Given the description of an element on the screen output the (x, y) to click on. 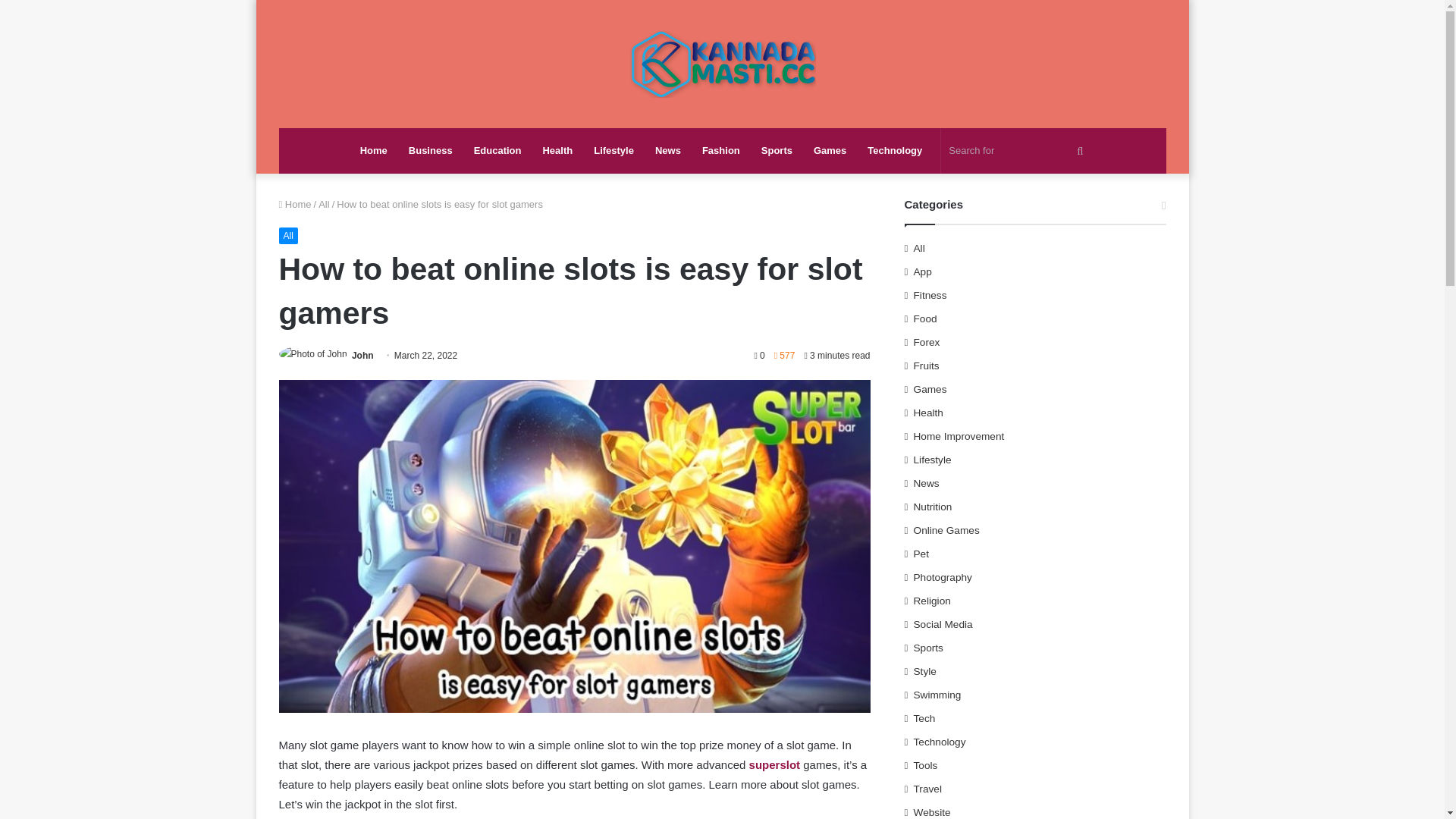
News (668, 150)
John (363, 355)
Home (295, 204)
Sports (777, 150)
All (288, 235)
Health (557, 150)
Games (830, 150)
Business (430, 150)
superslot (774, 764)
John (363, 355)
